Given the description of an element on the screen output the (x, y) to click on. 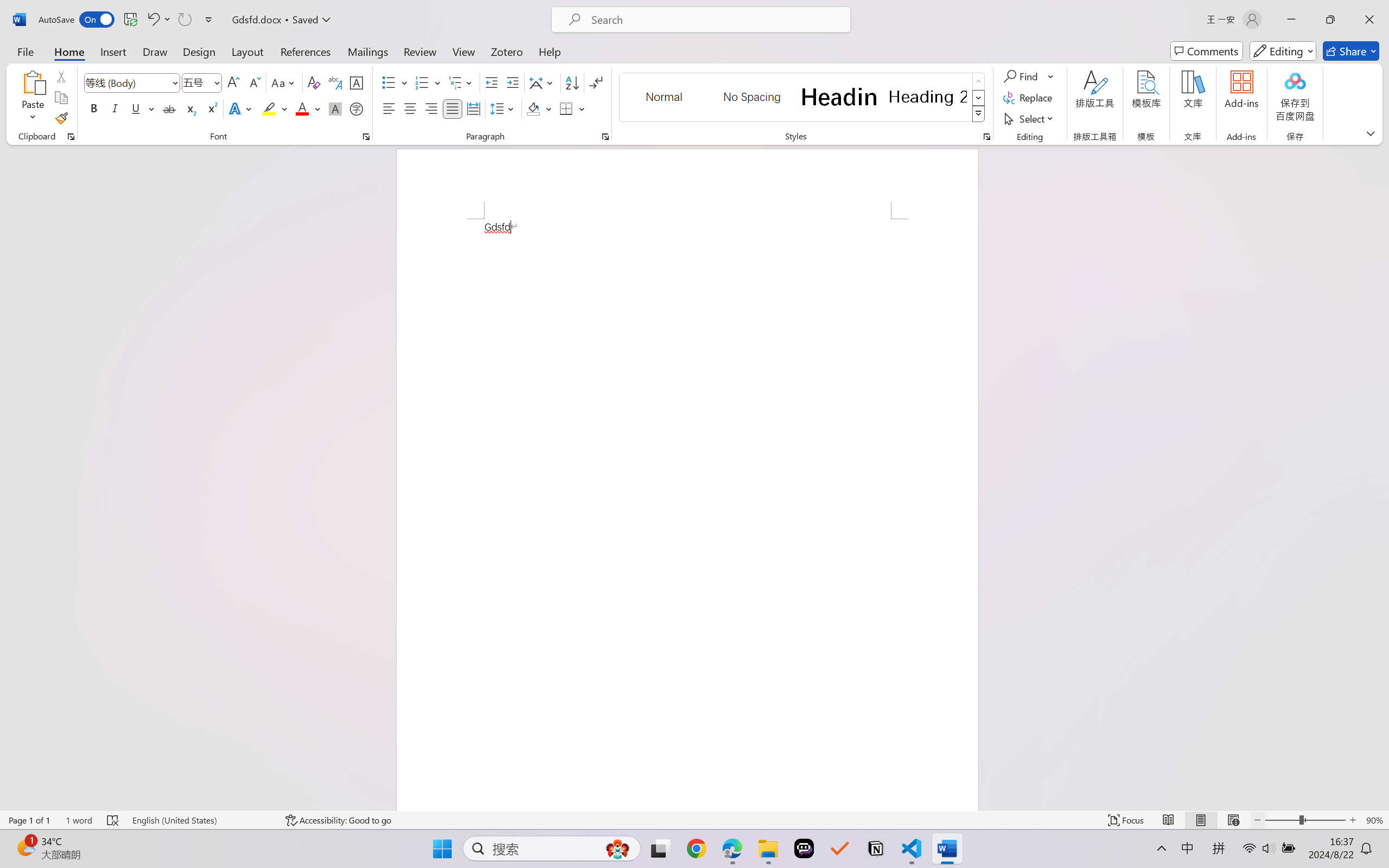
Text Effects and Typography (241, 108)
Page 1 content (687, 514)
Sort... (571, 82)
Line and Paragraph Spacing (503, 108)
Zoom 90% (1374, 819)
Distributed (473, 108)
Styles (978, 113)
